Given the description of an element on the screen output the (x, y) to click on. 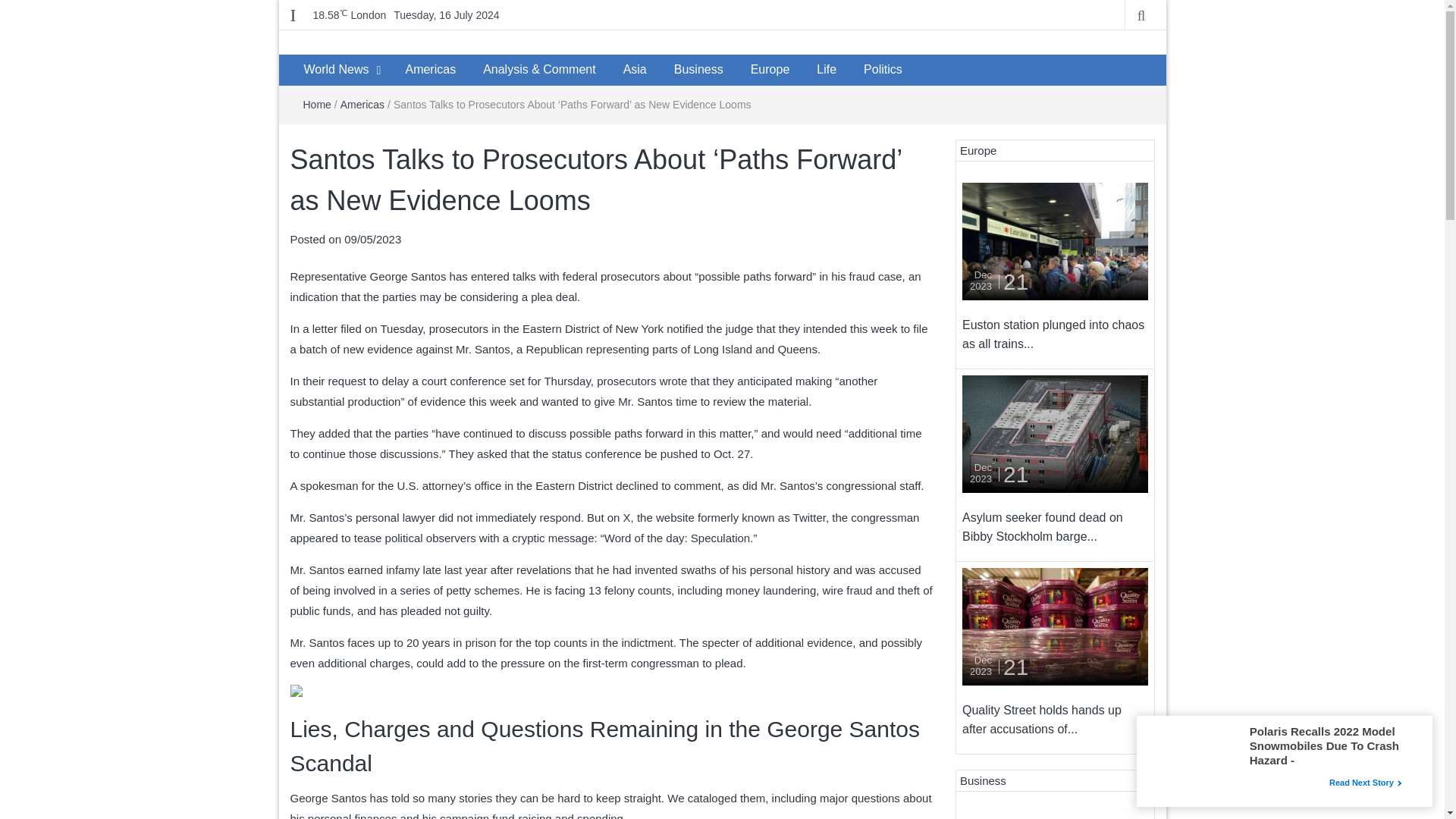
Politics (882, 69)
Asia (635, 69)
Americas (362, 104)
Clouds (349, 14)
Search (15, 6)
Home (316, 104)
World News (335, 69)
Americas (429, 69)
Life (826, 69)
Business (698, 69)
Europe (769, 69)
